Given the description of an element on the screen output the (x, y) to click on. 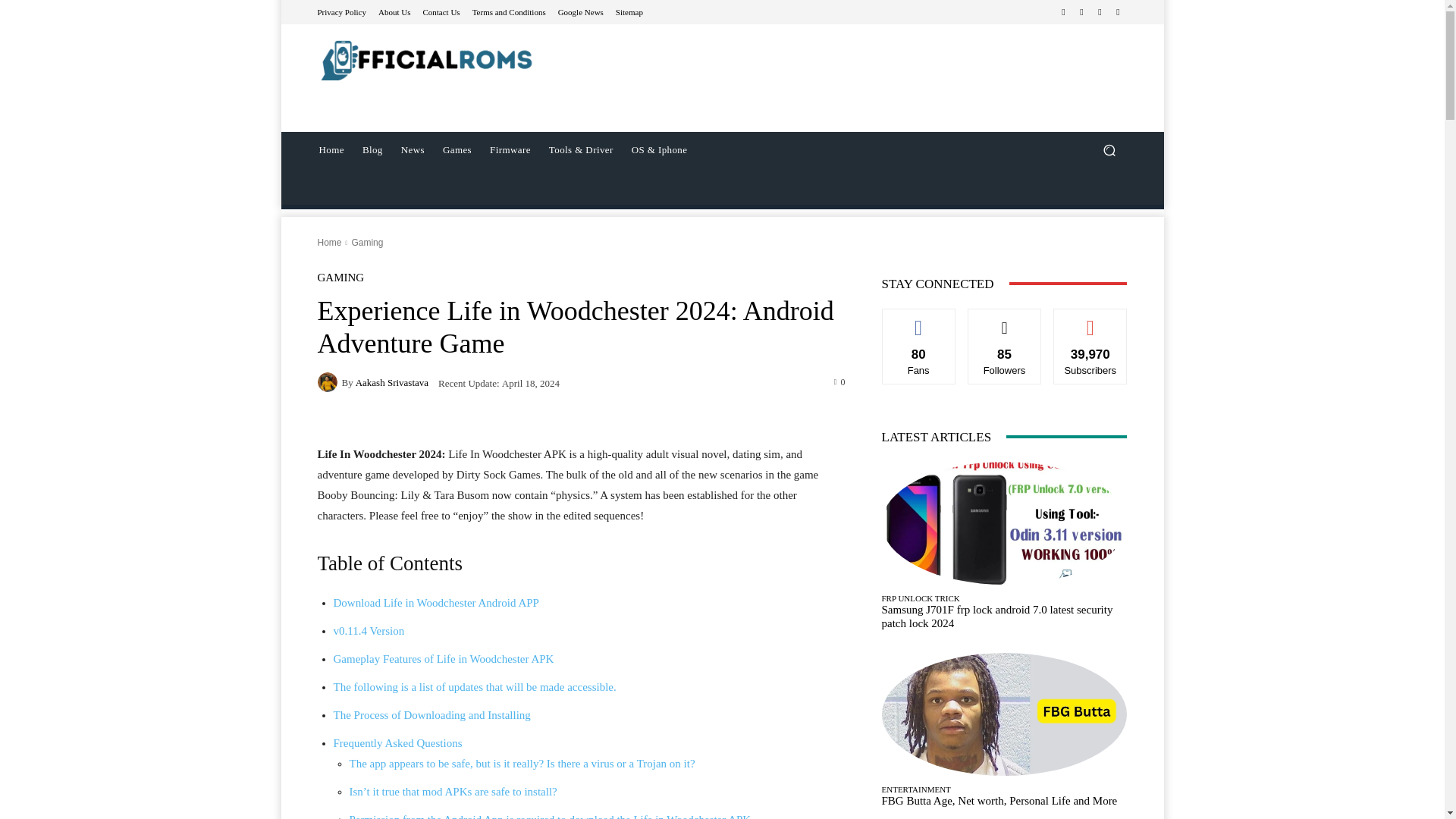
Frequently Asked Questions (398, 743)
Contact Us (441, 11)
About Us (394, 11)
v0.11.4 Version (368, 630)
Download Life in Woodchester Android APP (435, 603)
Google News (580, 11)
Instagram (1080, 12)
Home (328, 242)
View all posts in Gaming (366, 242)
Home (330, 149)
0 (839, 380)
Twitter (1099, 12)
GAMING (340, 277)
The Process of Downloading and Installing (432, 715)
